Given the description of an element on the screen output the (x, y) to click on. 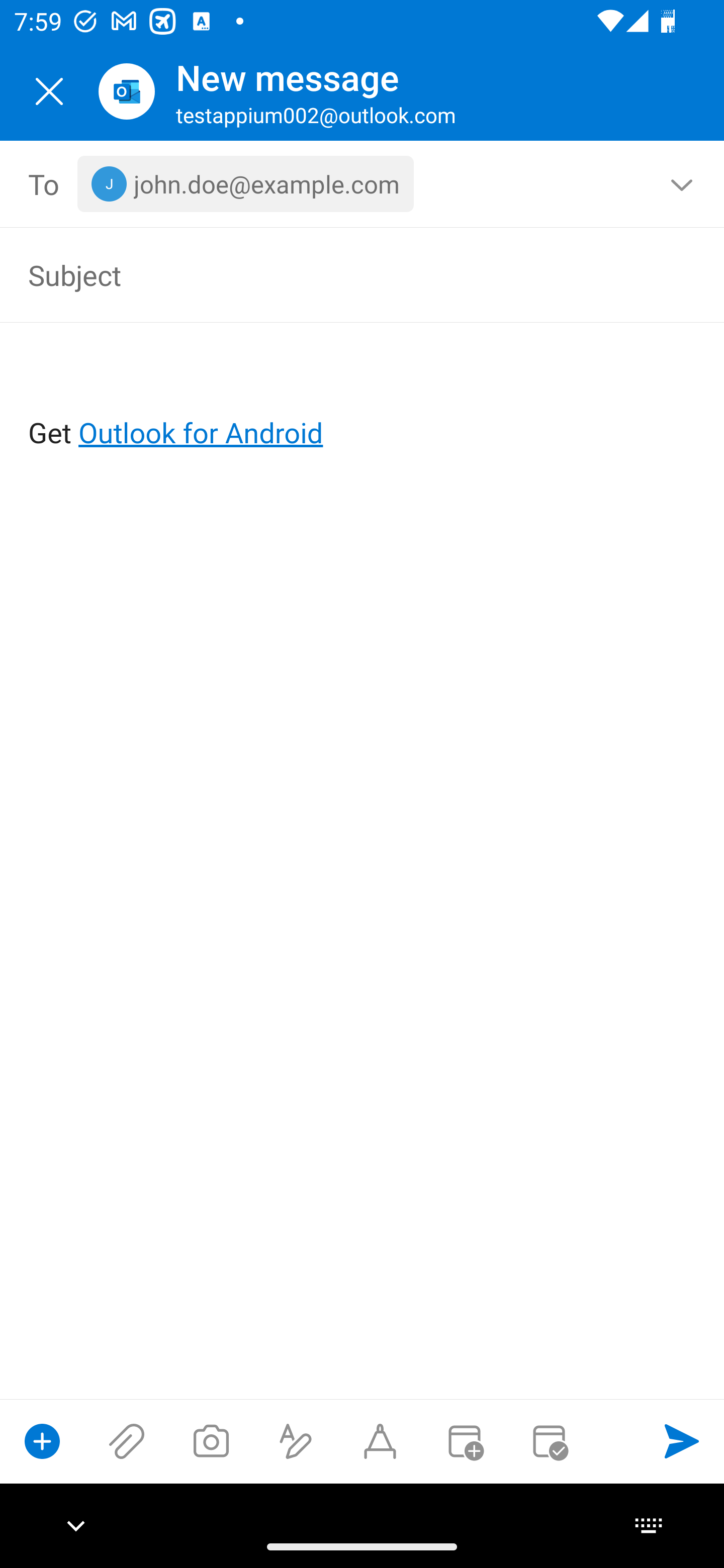
Close (49, 91)
To, 1 recipient <john.doe@example.com> (362, 184)
Subject (333, 274)


Get Outlook for Android (363, 400)
Show compose options (42, 1440)
Attach files (126, 1440)
Take a photo (210, 1440)
Show formatting options (295, 1440)
Start Ink compose (380, 1440)
Convert to event (464, 1440)
Send availability (548, 1440)
Send (681, 1440)
